Given the description of an element on the screen output the (x, y) to click on. 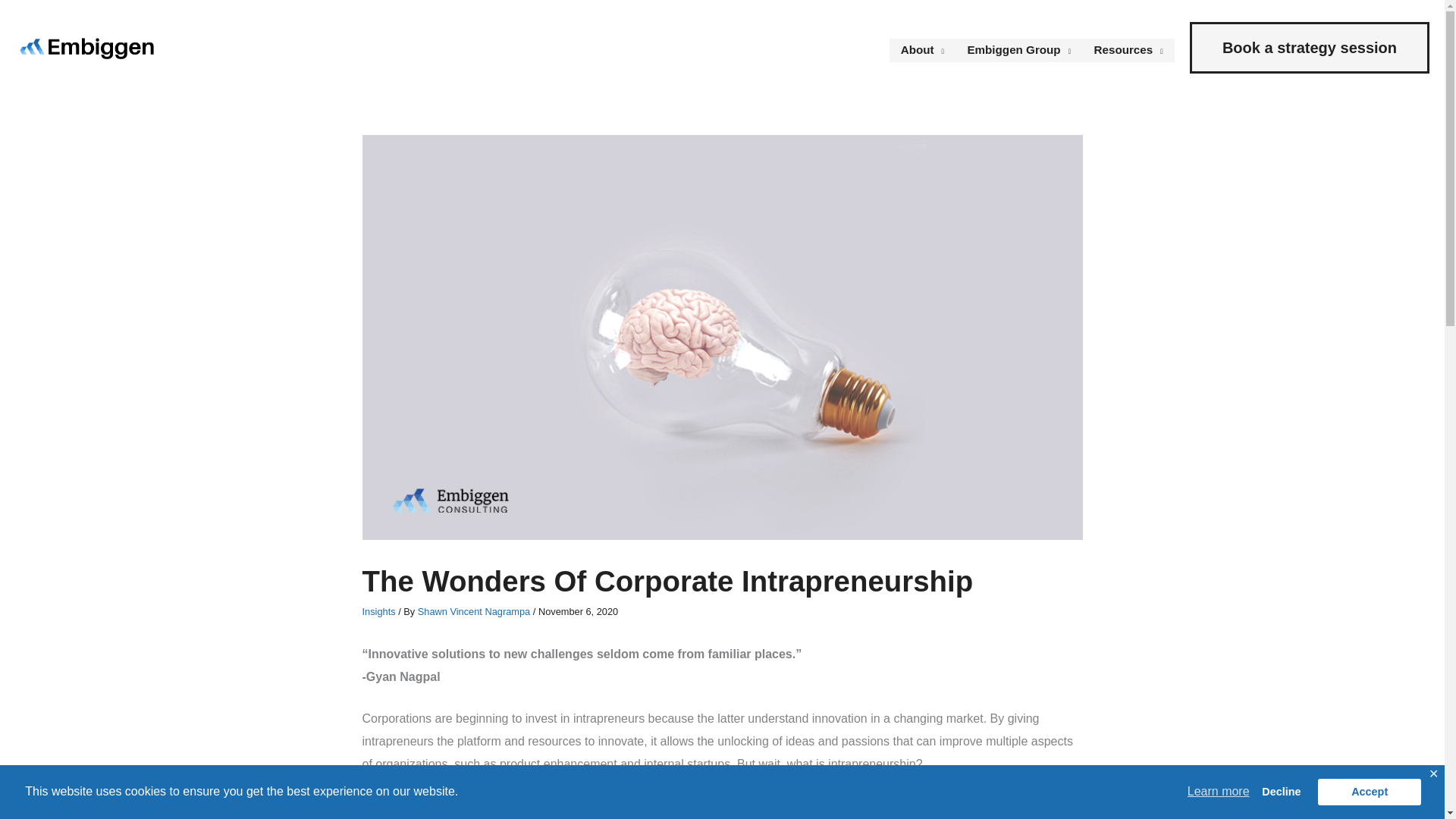
View all posts by Shawn Vincent Nagrampa (474, 611)
Decline (1281, 791)
Book a strategy session (1309, 47)
Accept (1369, 791)
About (922, 49)
Learn more (1218, 791)
Resources (1127, 49)
Embiggen Group (1018, 49)
